Given the description of an element on the screen output the (x, y) to click on. 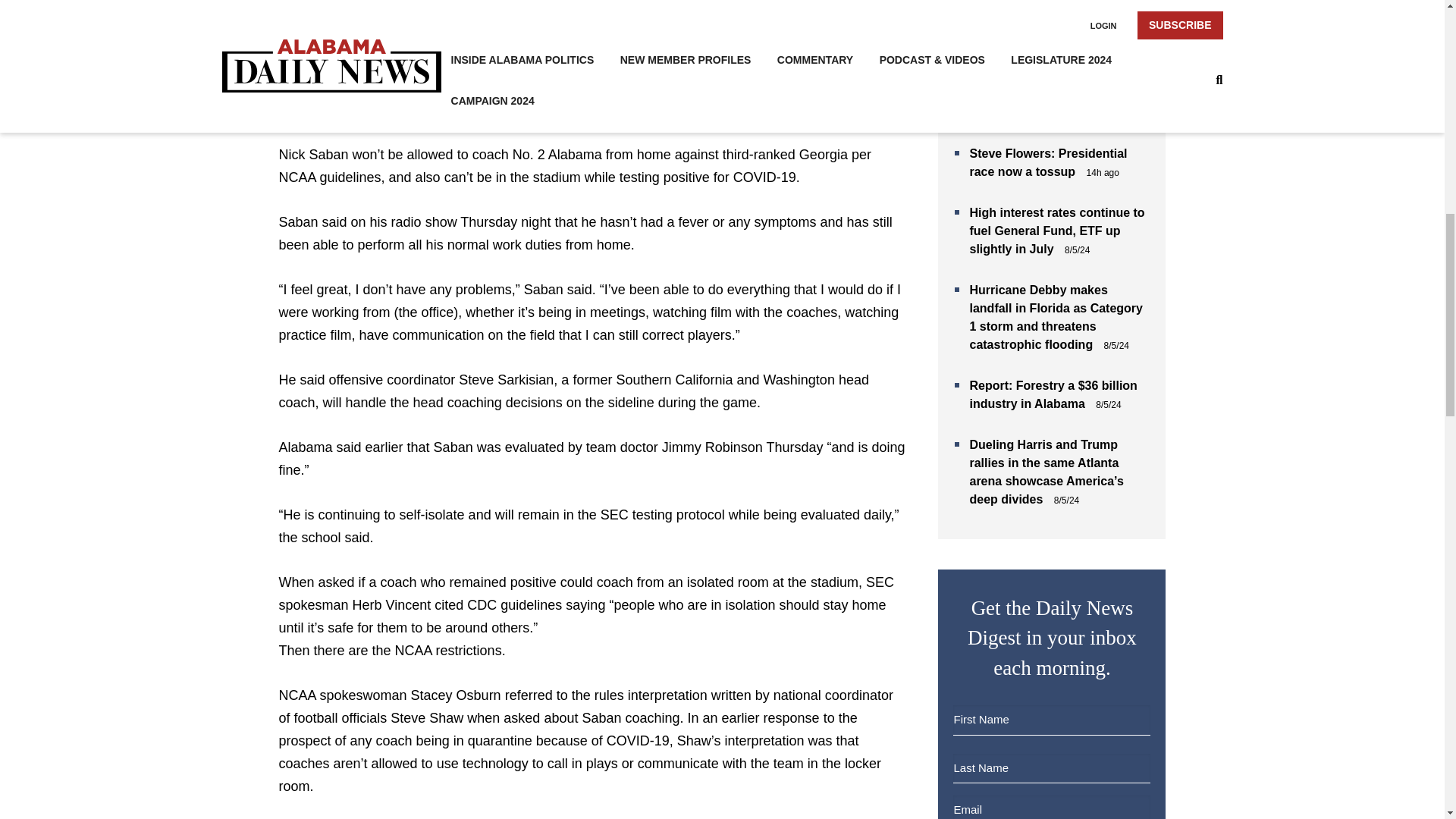
Steve Flowers: Presidential race now a tossup (1047, 162)
ASSOCIATED PRESS (379, 20)
Steve Flowers: Presidential race now a tossup (1047, 162)
